Given the description of an element on the screen output the (x, y) to click on. 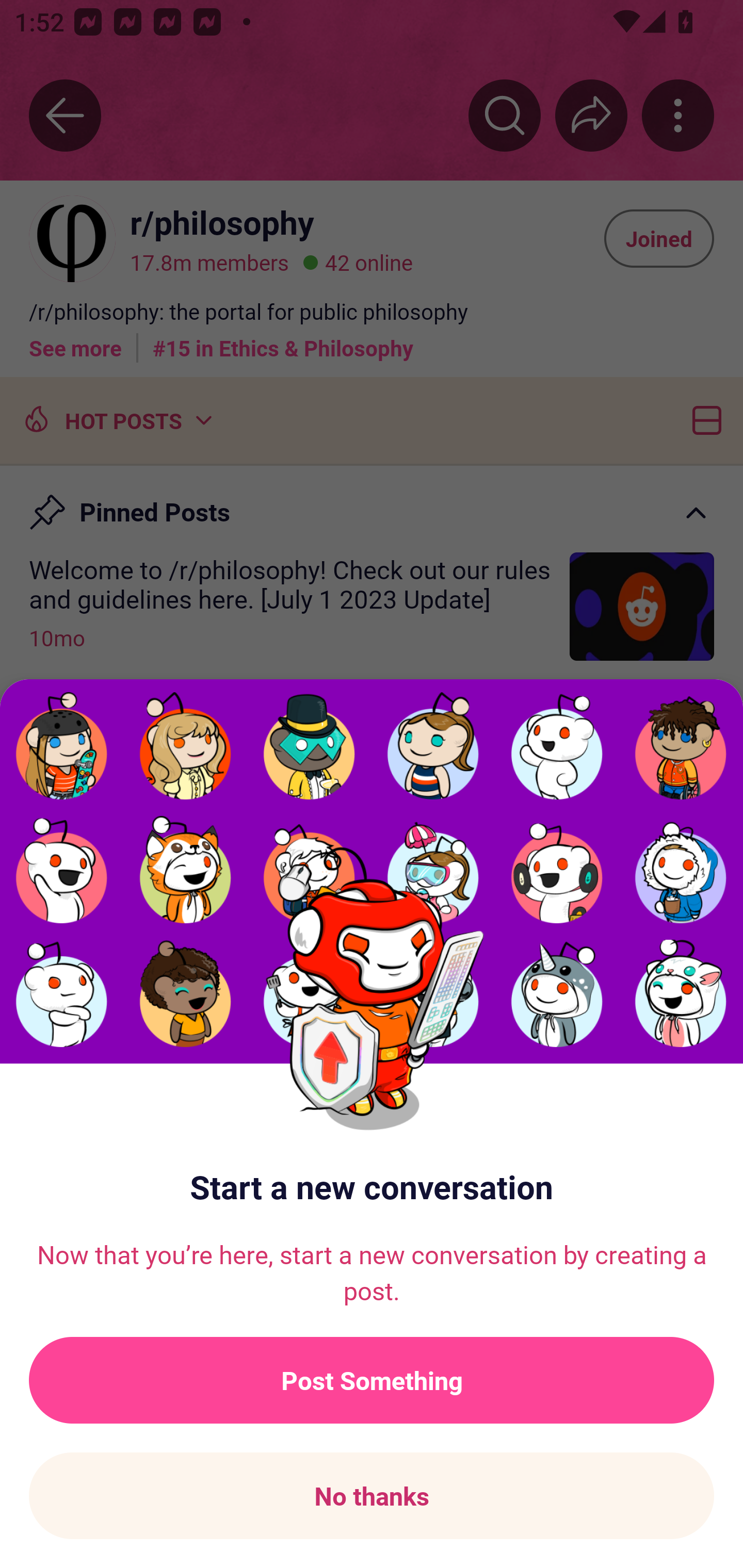
Post Something (371, 1380)
No thanks (371, 1495)
